Given the description of an element on the screen output the (x, y) to click on. 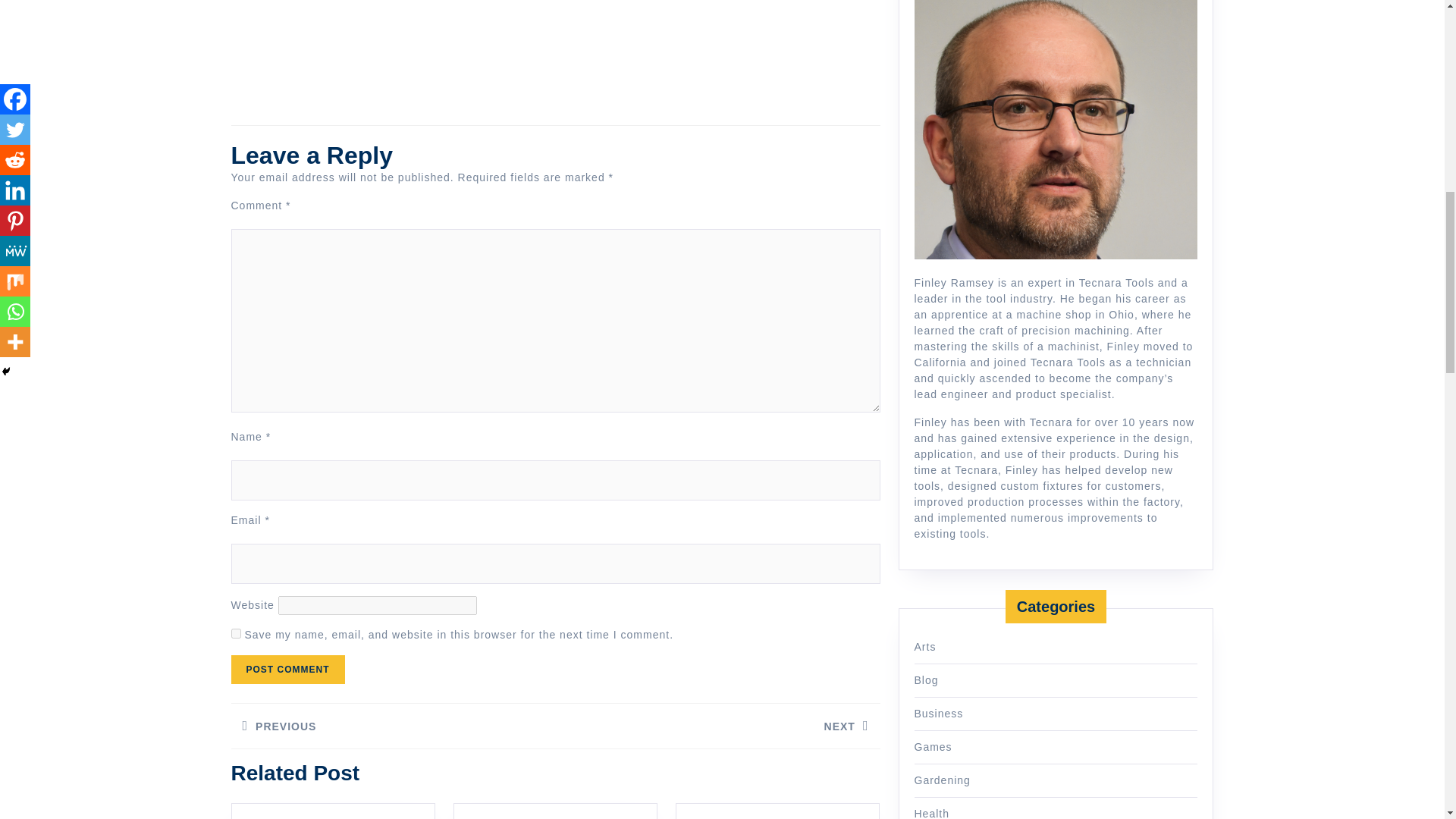
Post Comment (286, 669)
Post Comment (286, 669)
yes (235, 633)
